Given the description of an element on the screen output the (x, y) to click on. 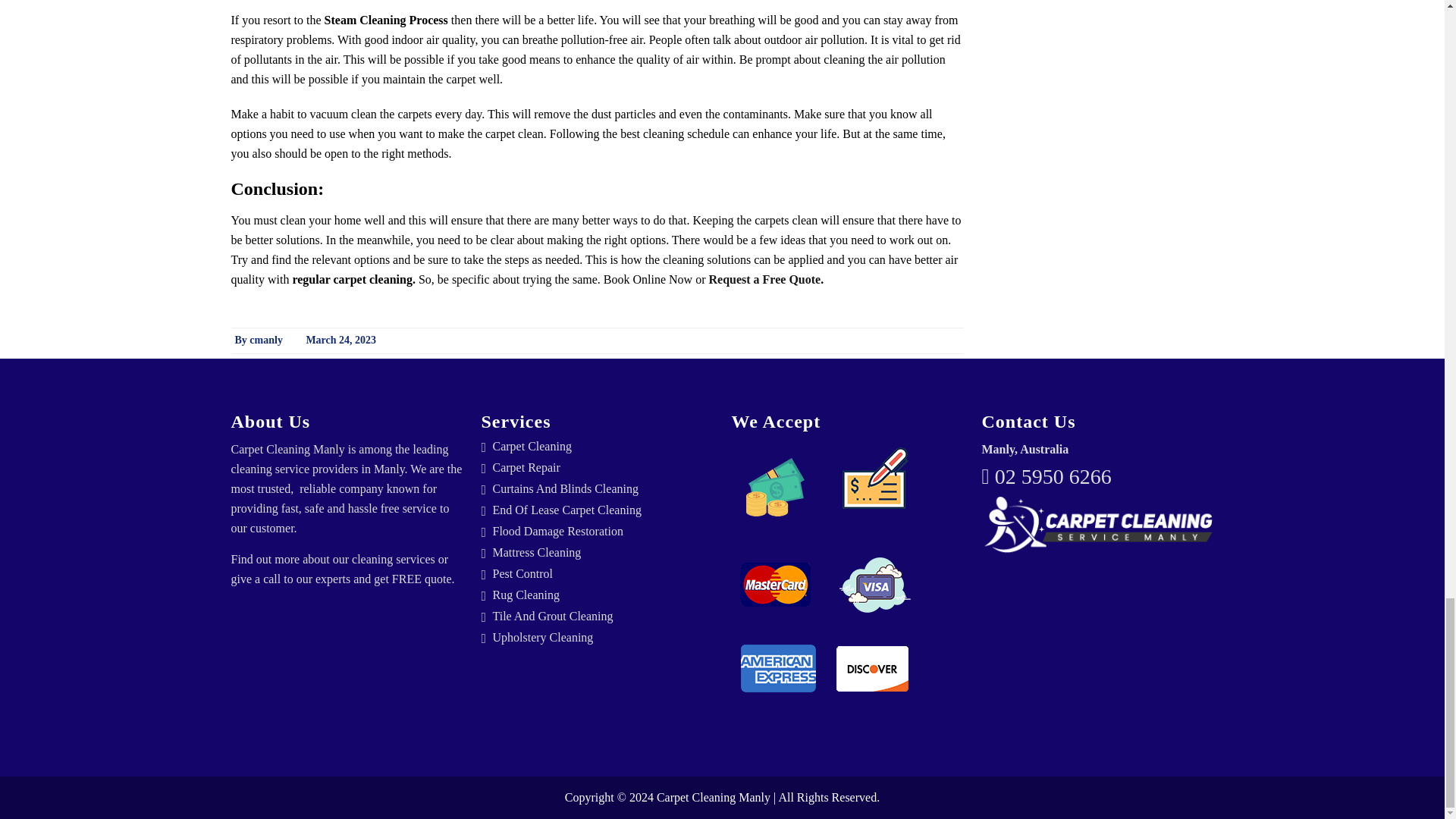
Flood Damage Restoration (603, 531)
End Of Lease Carpet Cleaning (603, 509)
Carpet Repair (603, 468)
Upholstery Cleaning (603, 637)
Carpet Cleaning (603, 446)
Tile And Grout Cleaning (603, 616)
Rug Cleaning (603, 594)
Mattress Cleaning (603, 552)
Steam Cleaning Process (386, 19)
Request a Free Quote (764, 278)
Curtains And Blinds Cleaning (603, 489)
Pest Control (603, 573)
